Given the description of an element on the screen output the (x, y) to click on. 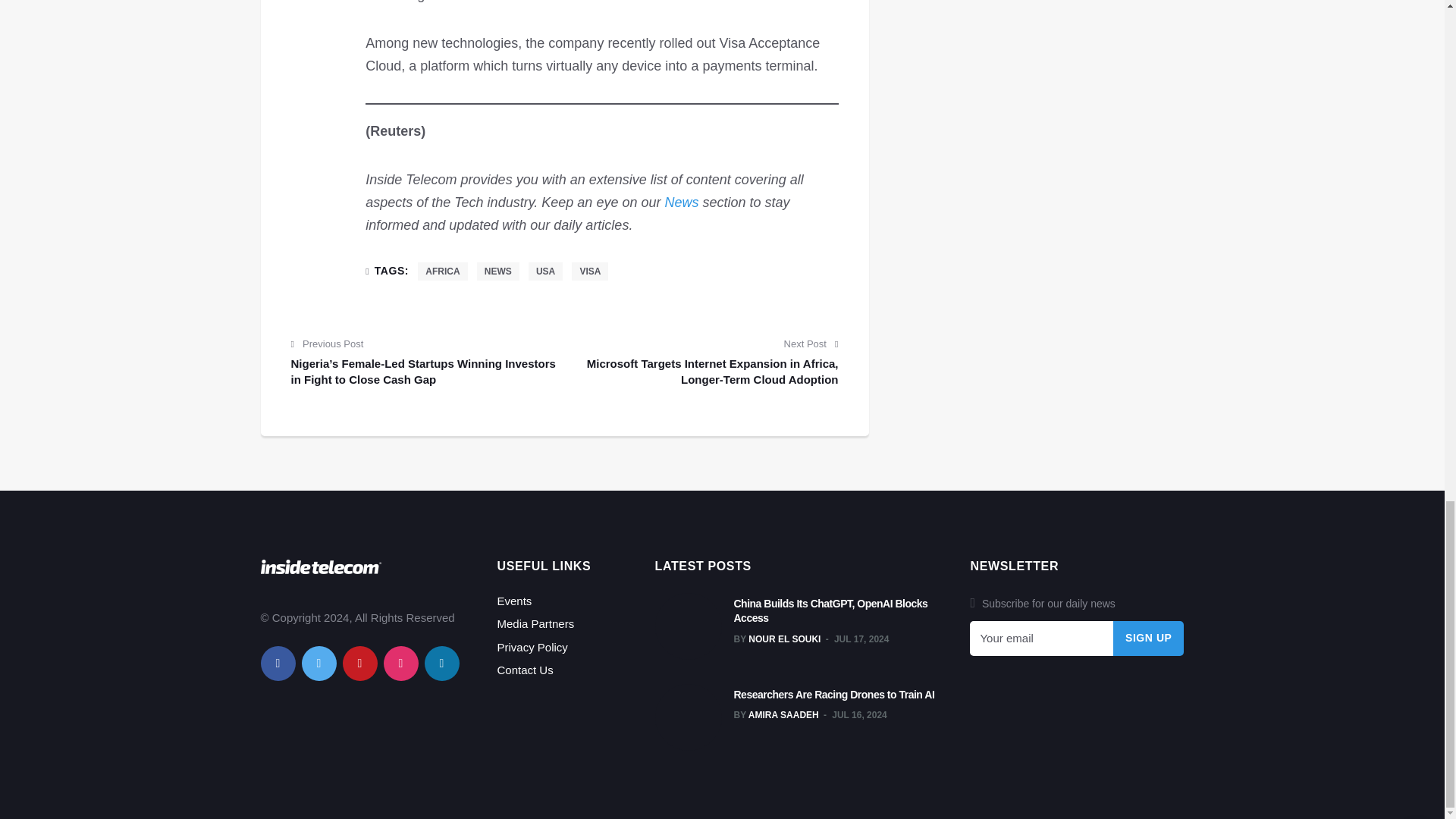
Sign Up (1149, 638)
